Given the description of an element on the screen output the (x, y) to click on. 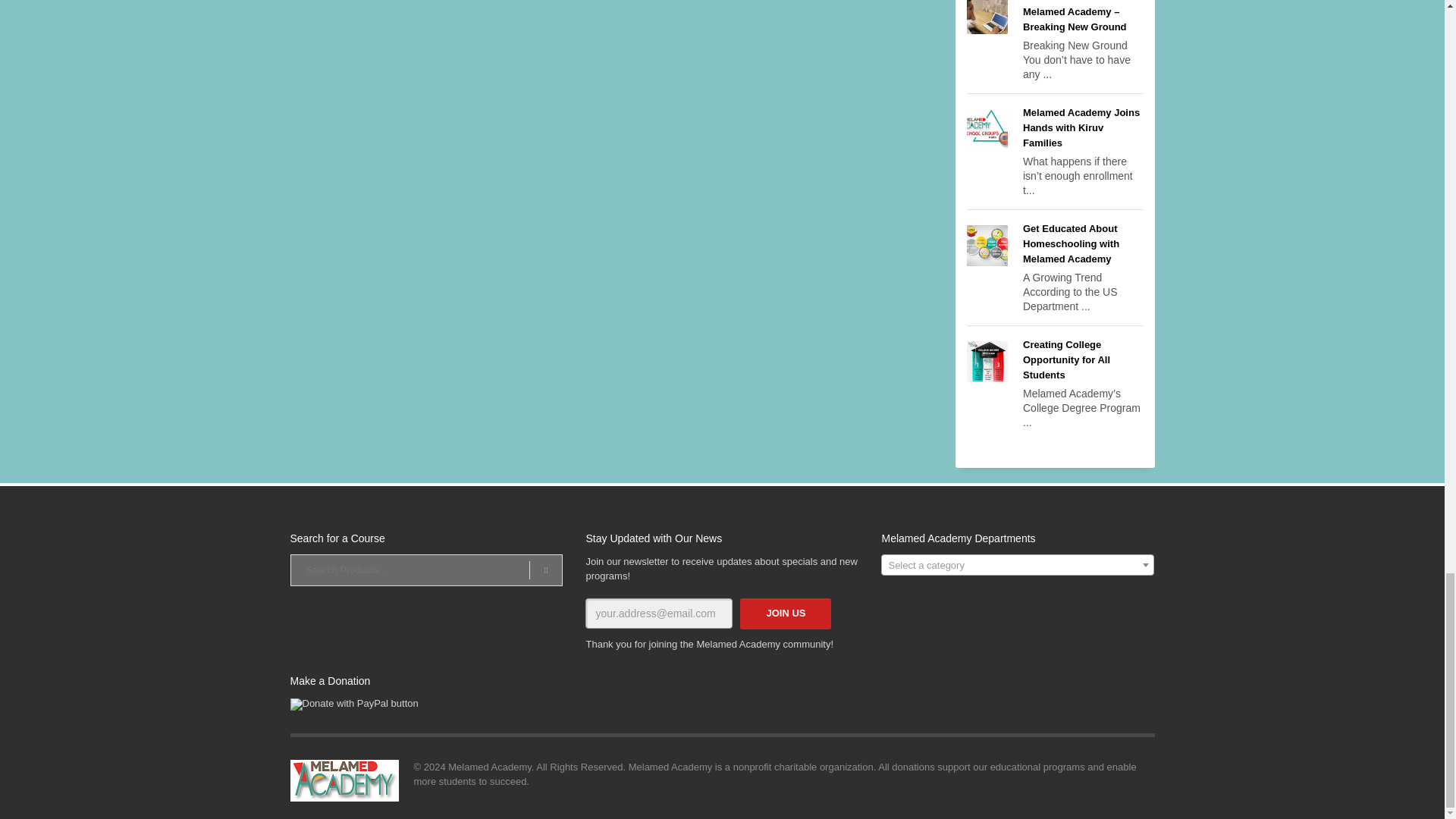
PayPal - The safer, easier way to pay online! (353, 704)
Melamed Academy Joins Hands with Kiruv Families (1081, 127)
Get Educated About Homeschooling with Melamed Academy (1071, 243)
JOIN US (785, 613)
Creating College Opportunity for All Students (1066, 359)
